Given the description of an element on the screen output the (x, y) to click on. 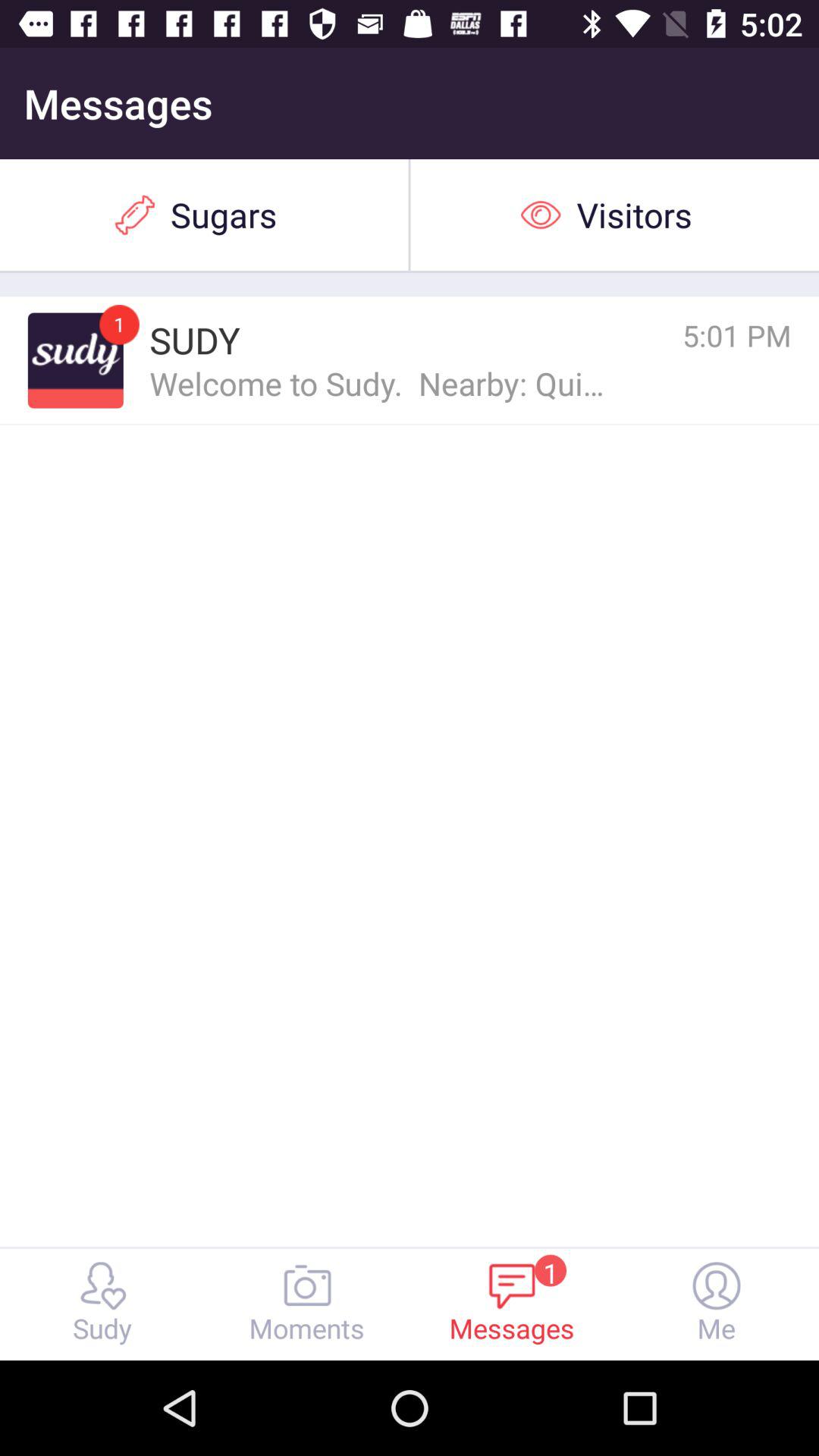
click the item next to sudy (75, 360)
